Given the description of an element on the screen output the (x, y) to click on. 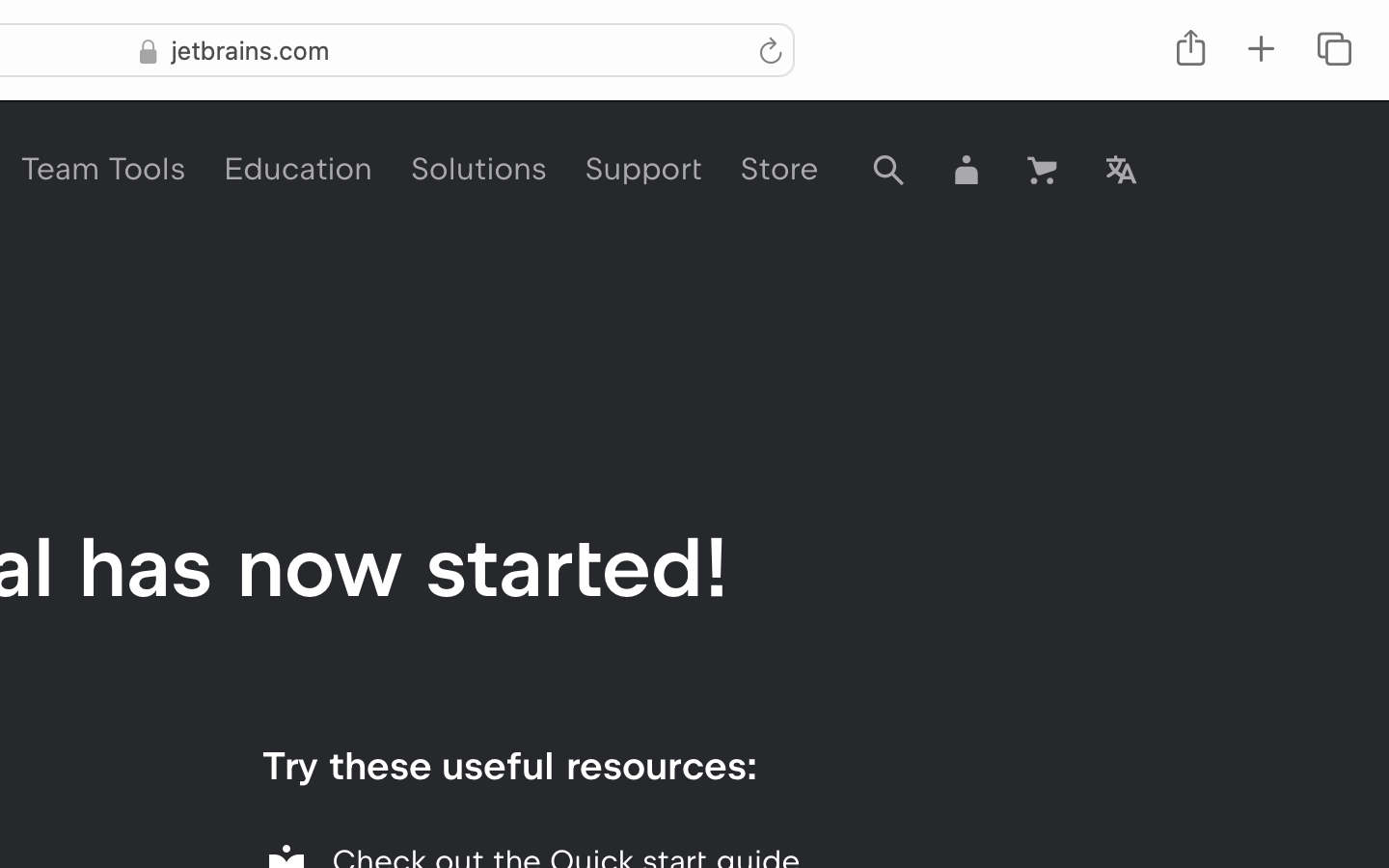
Try these useful resources: Element type: AXStaticText (510, 765)
